Given the description of an element on the screen output the (x, y) to click on. 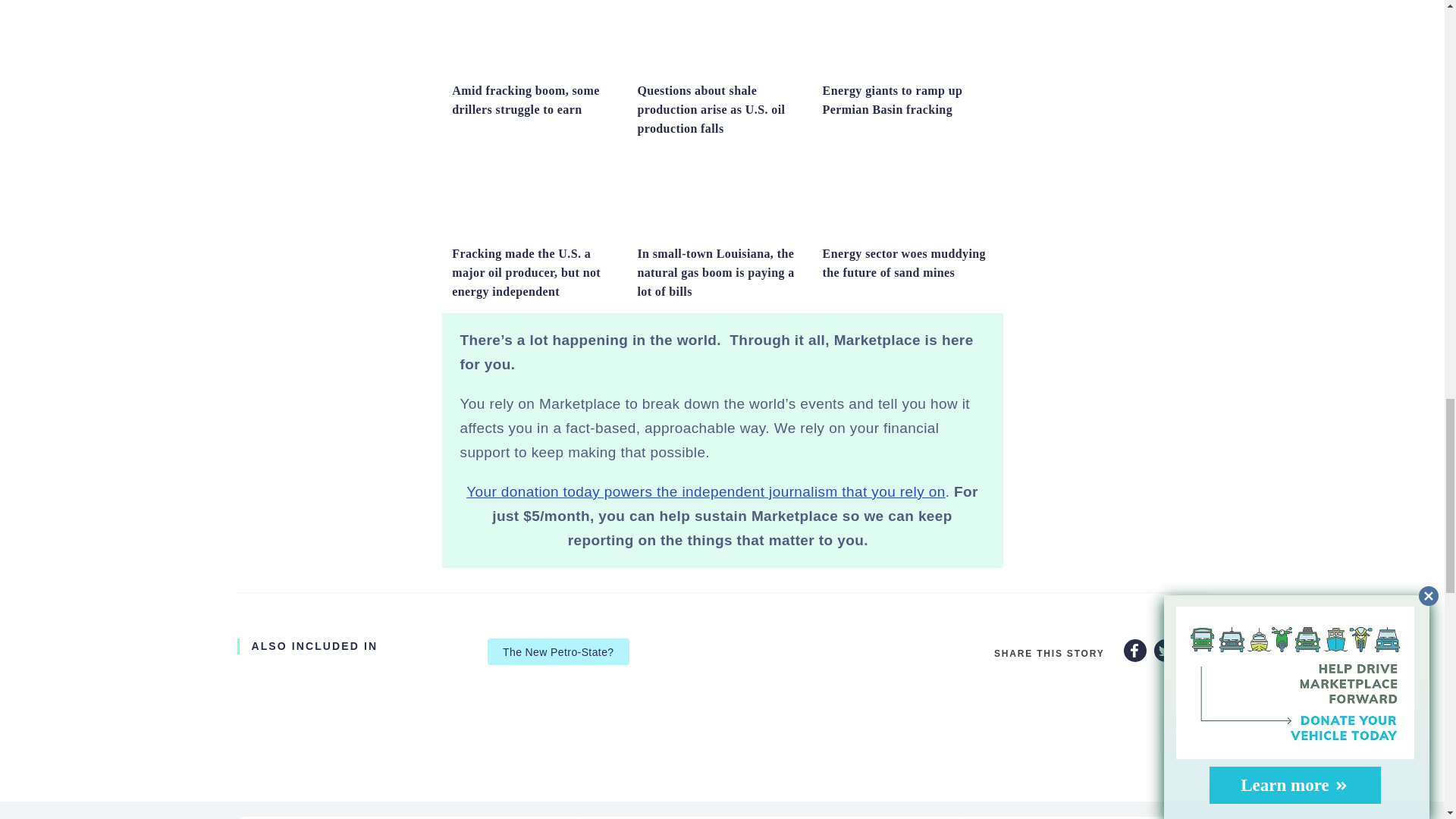
Amid fracking boom, some drillers struggle to earn (536, 68)
Amid fracking boom, some drillers struggle to earn (524, 100)
